Given the description of an element on the screen output the (x, y) to click on. 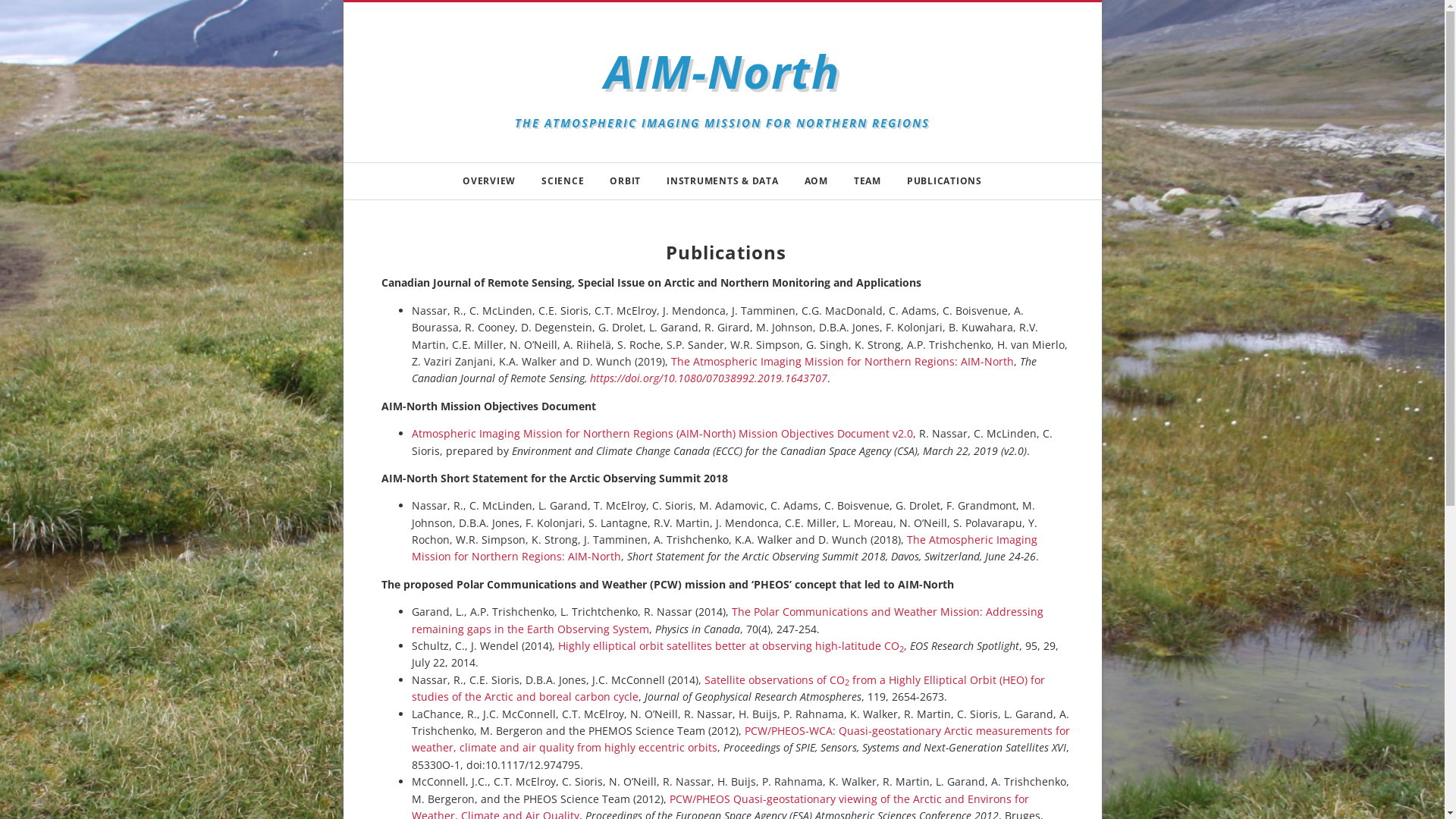
Menu Element type: text (15, 15)
AIM-North Element type: text (722, 71)
INSTRUMENTS & DATA Element type: text (722, 181)
Skip to content Element type: text (342, 0)
AOM Element type: text (816, 181)
https://doi.org/10.1080/07038992.2019.1643707 Element type: text (708, 377)
OVERVIEW Element type: text (488, 181)
SCIENCE Element type: text (562, 181)
ORBIT Element type: text (624, 181)
TEAM Element type: text (867, 181)
PUBLICATIONS Element type: text (944, 181)
